Given the description of an element on the screen output the (x, y) to click on. 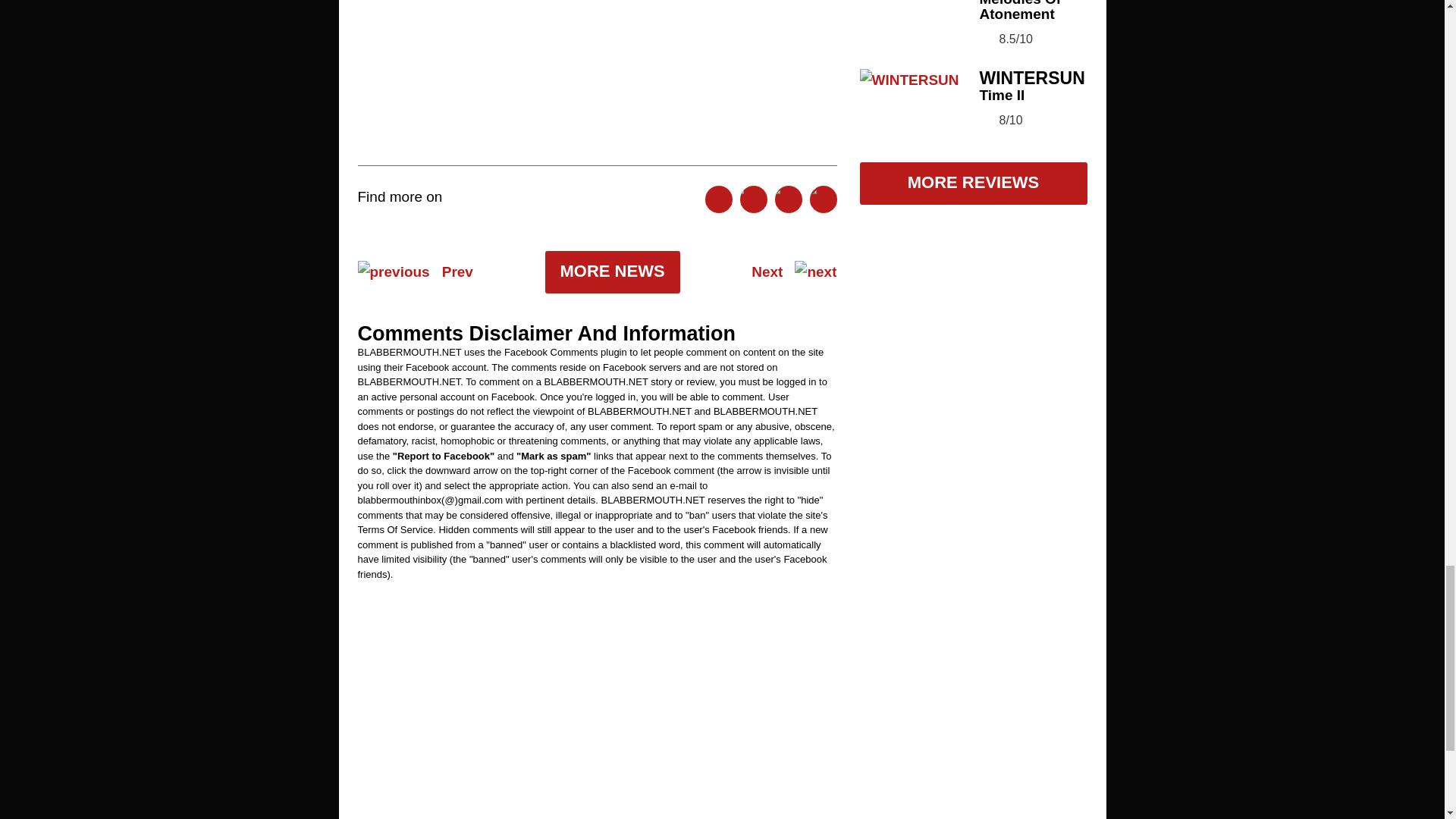
Prev (415, 272)
MORE NEWS (611, 271)
Share On Facebook (718, 198)
Copy To Clipboard (823, 198)
Next (793, 272)
Share On Twitter (753, 198)
Share On Reddit (788, 198)
